Given the description of an element on the screen output the (x, y) to click on. 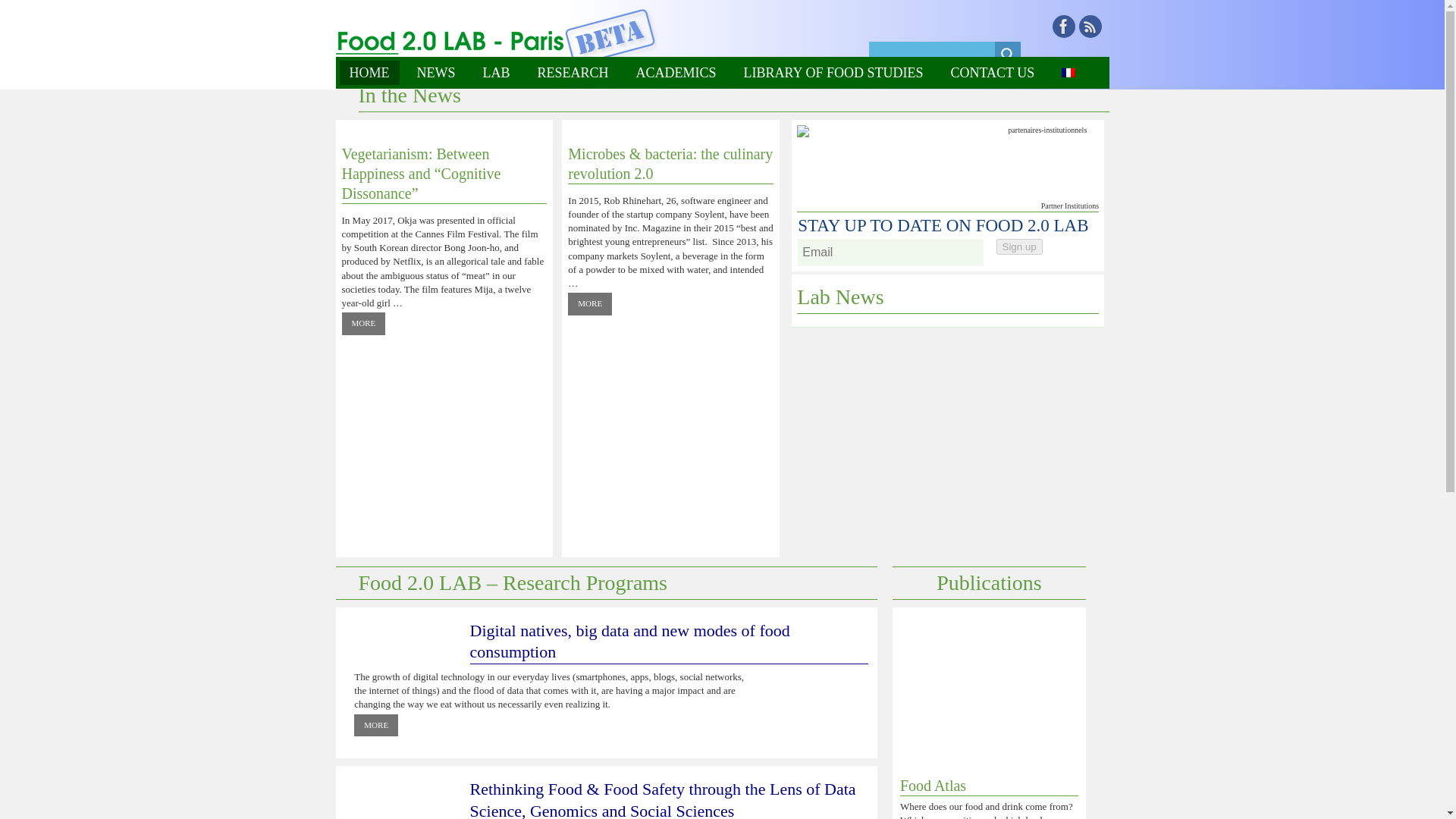
HOME (368, 72)
RESEARCH (572, 72)
LIBRARY OF FOOD STUDIES (833, 72)
LAB (496, 72)
CONTACT US (991, 72)
NEWS (435, 72)
MORE (589, 303)
MORE (362, 323)
Facebook (1063, 26)
ACADEMICS (676, 72)
